Given the description of an element on the screen output the (x, y) to click on. 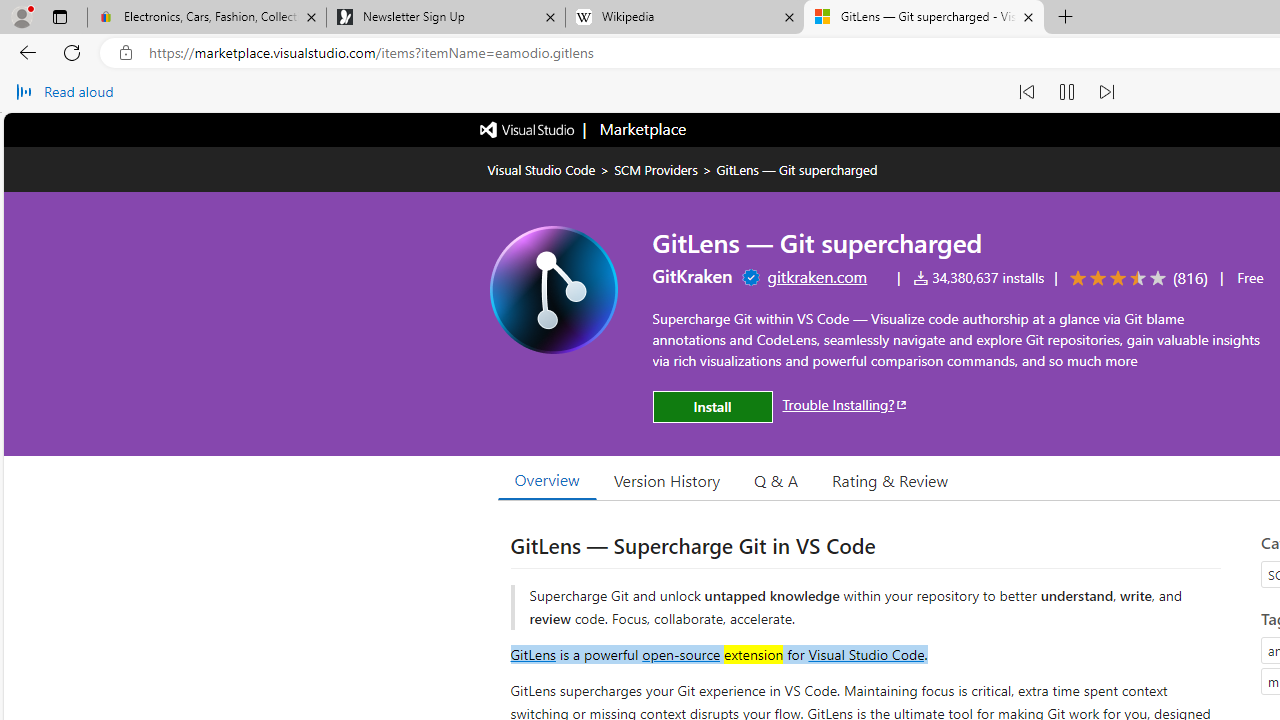
Read next paragraph (1105, 92)
Newsletter Sign Up (445, 17)
Visual Studio Code (866, 653)
Overview (546, 479)
gitkraken.com (816, 276)
Q & A (776, 479)
Average rating: 3.7 out of 5. Navigate to user reviews. (1135, 278)
SCM Providers (655, 169)
GitLens (532, 653)
open-source (681, 653)
Visual Studio logo (528, 128)
